Given the description of an element on the screen output the (x, y) to click on. 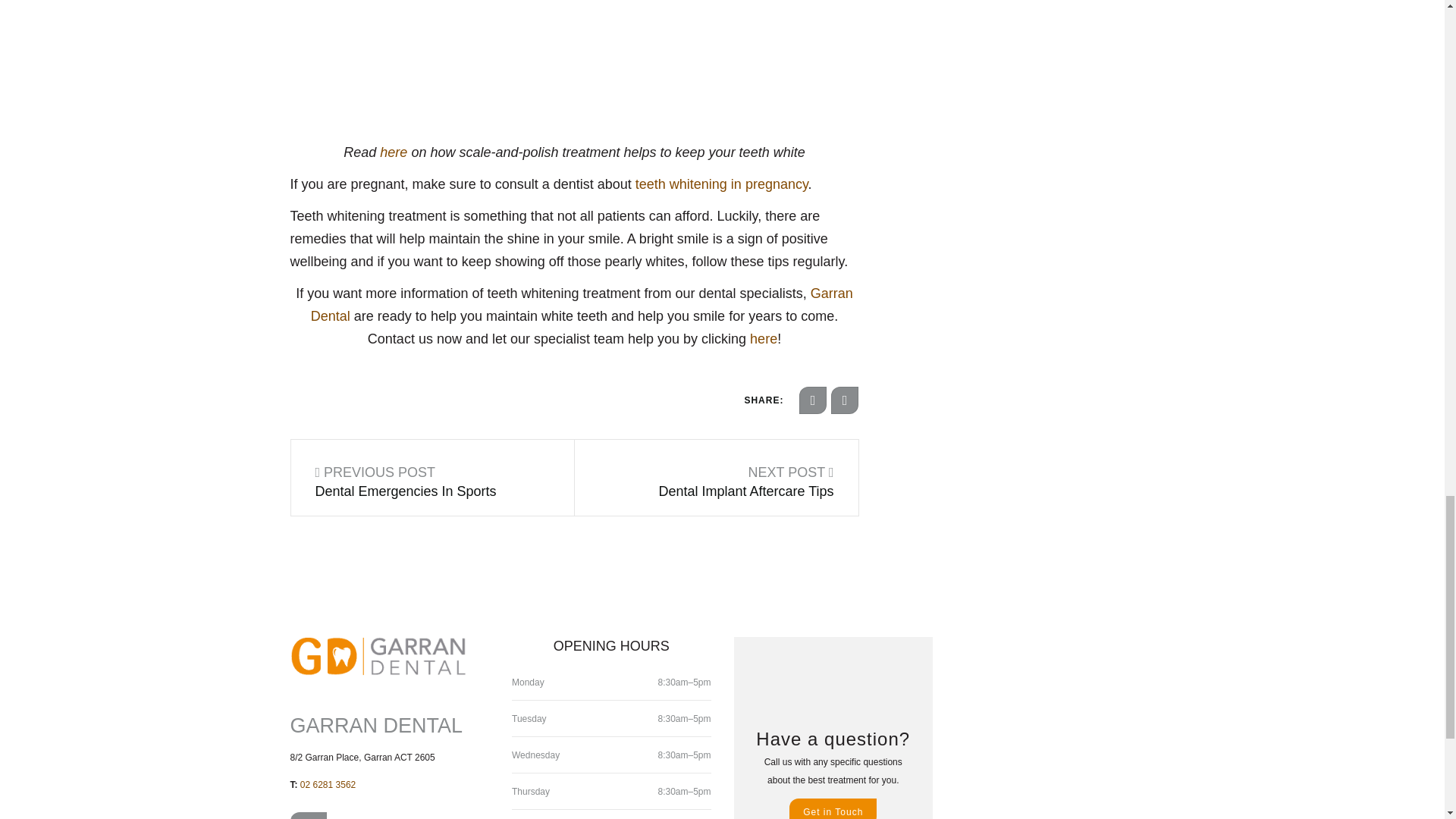
Remedies To Make Way For Whiter Teeth 3 (410, 65)
Tweet (845, 400)
Share on Facebook (813, 400)
